Given the description of an element on the screen output the (x, y) to click on. 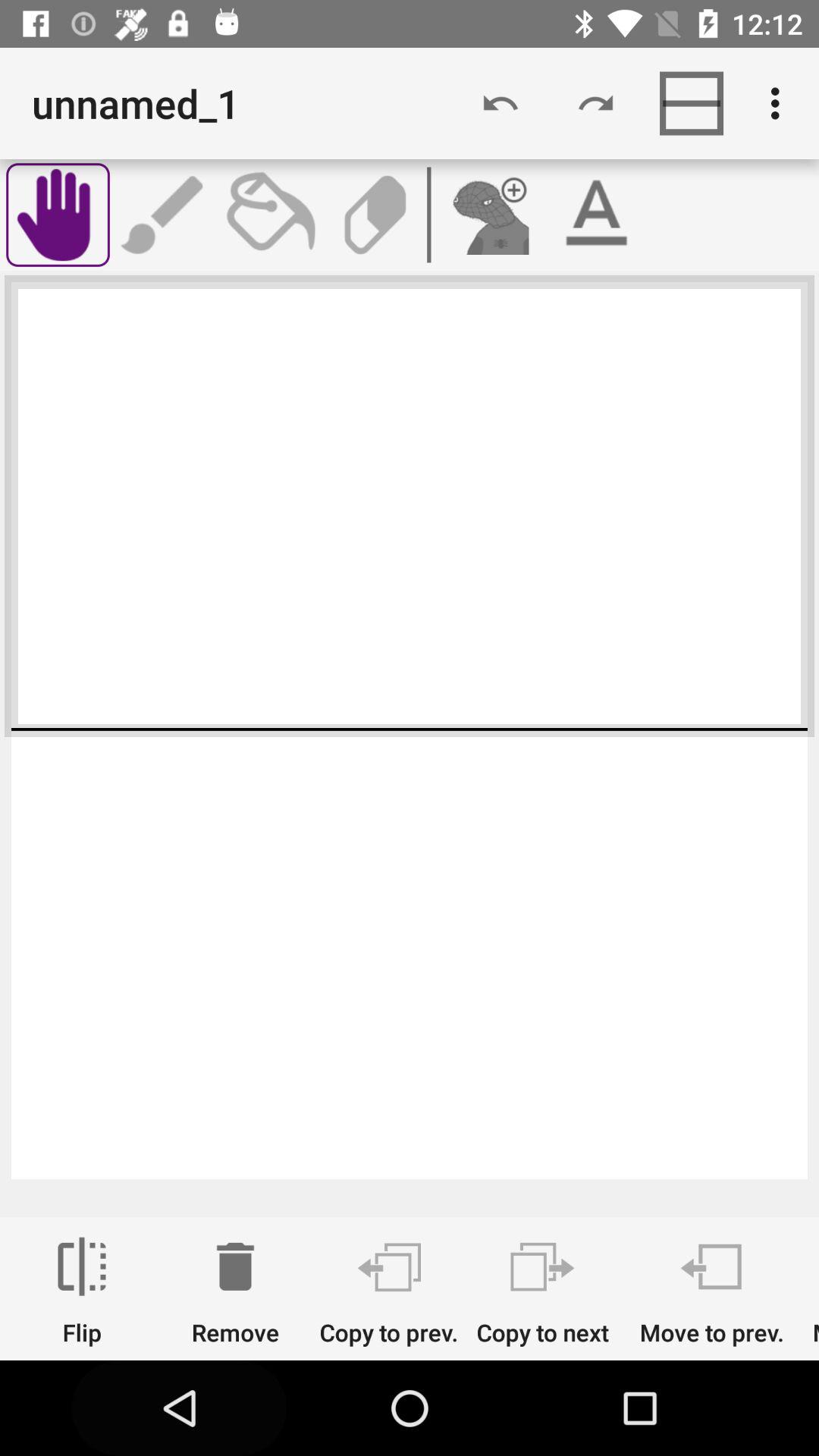
click the app below unnamed_1 (269, 214)
